Given the description of an element on the screen output the (x, y) to click on. 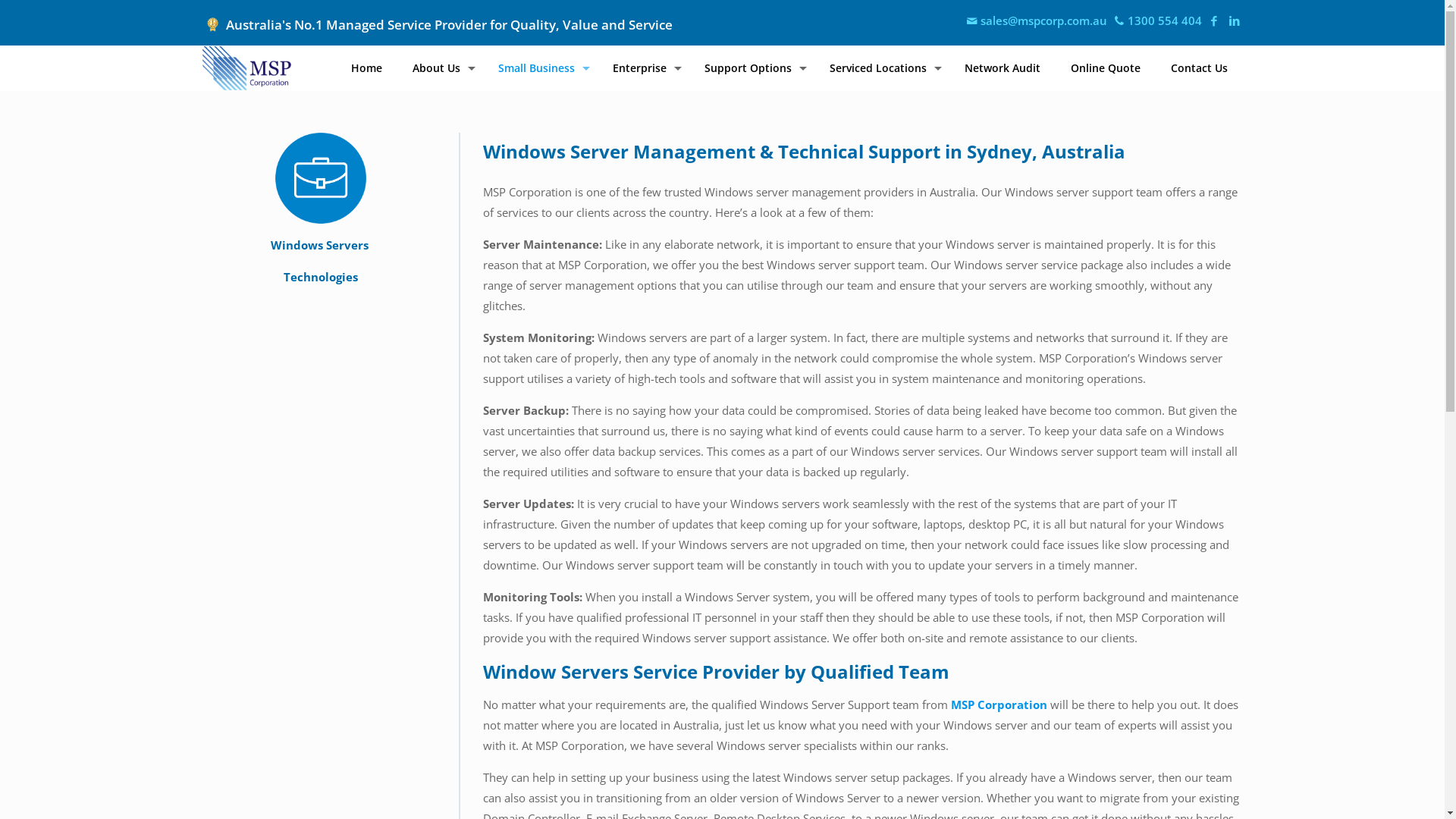
Online Quote Element type: text (1105, 68)
Small Business Element type: text (539, 68)
About Us Element type: text (440, 68)
Enterprise Element type: text (643, 68)
1300 554 404 Element type: text (1156, 20)
Network Audit Element type: text (1002, 68)
Support Options Element type: text (750, 68)
Home Element type: text (365, 68)
Contact Us Element type: text (1198, 68)
MSP Corporation Element type: text (998, 704)
MSP Corporation Sales Element type: hover (245, 68)
sales@mspcorp.com.au Element type: text (1035, 20)
Facebook Element type: hover (1213, 20)
Facebook Element type: hover (1234, 20)
Serviced Locations Element type: text (881, 68)
